Given the description of an element on the screen output the (x, y) to click on. 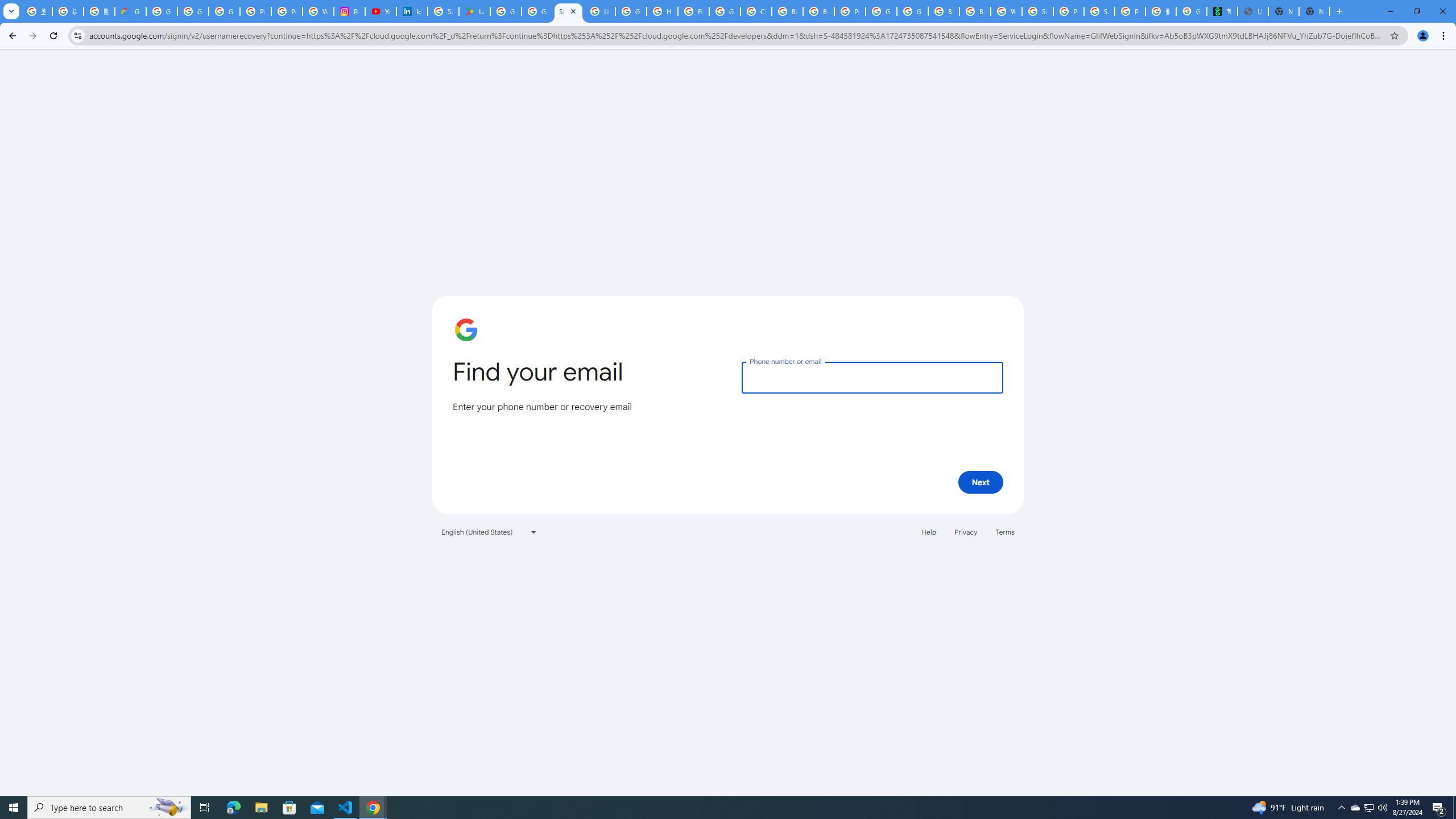
Google Cloud Platform (881, 11)
Next (980, 481)
Sign in - Google Accounts (568, 11)
Google Cloud Platform (912, 11)
Sign in - Google Accounts (1037, 11)
Terms (1005, 531)
